Given the description of an element on the screen output the (x, y) to click on. 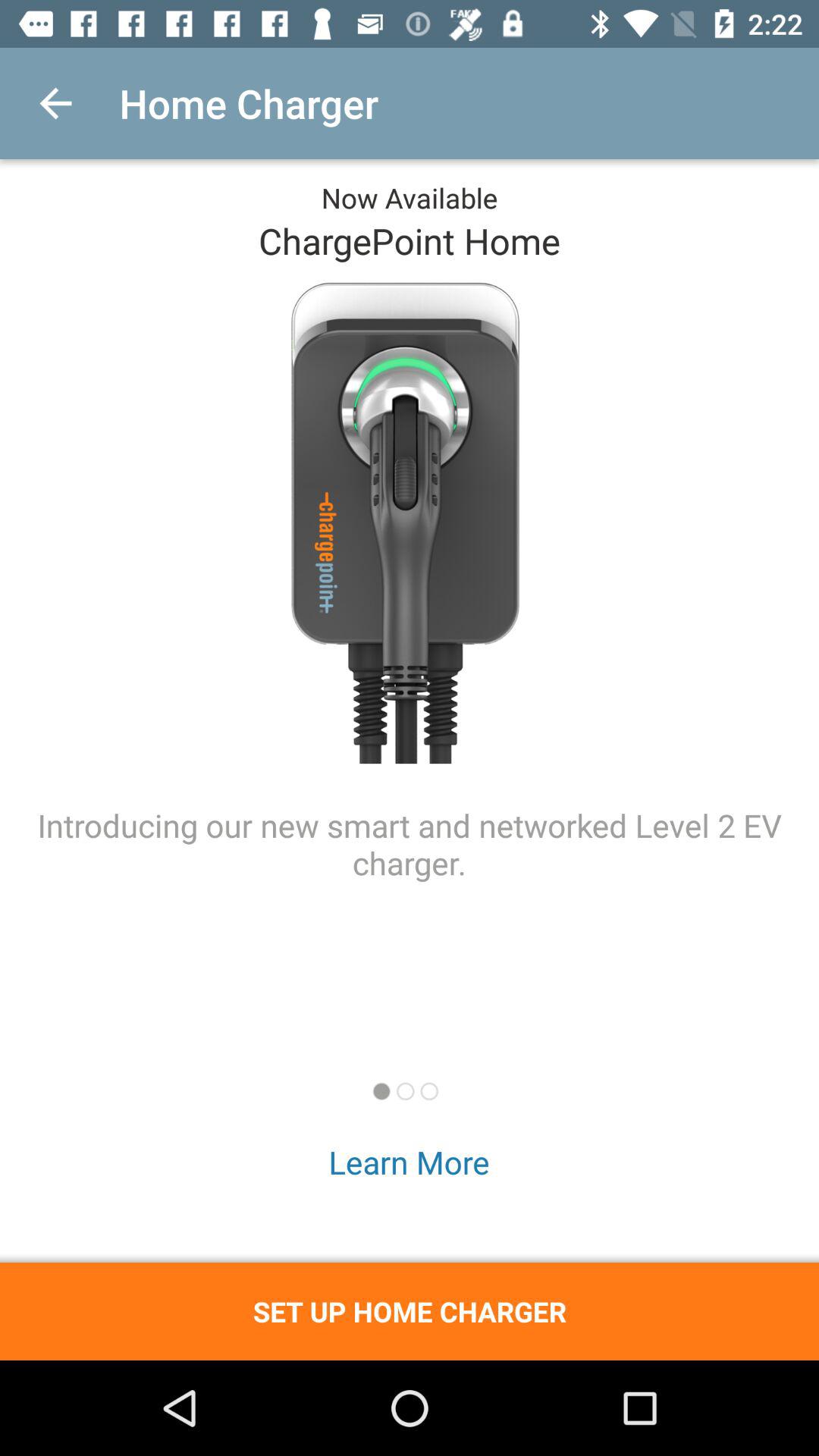
scroll to the set up home icon (409, 1311)
